Given the description of an element on the screen output the (x, y) to click on. 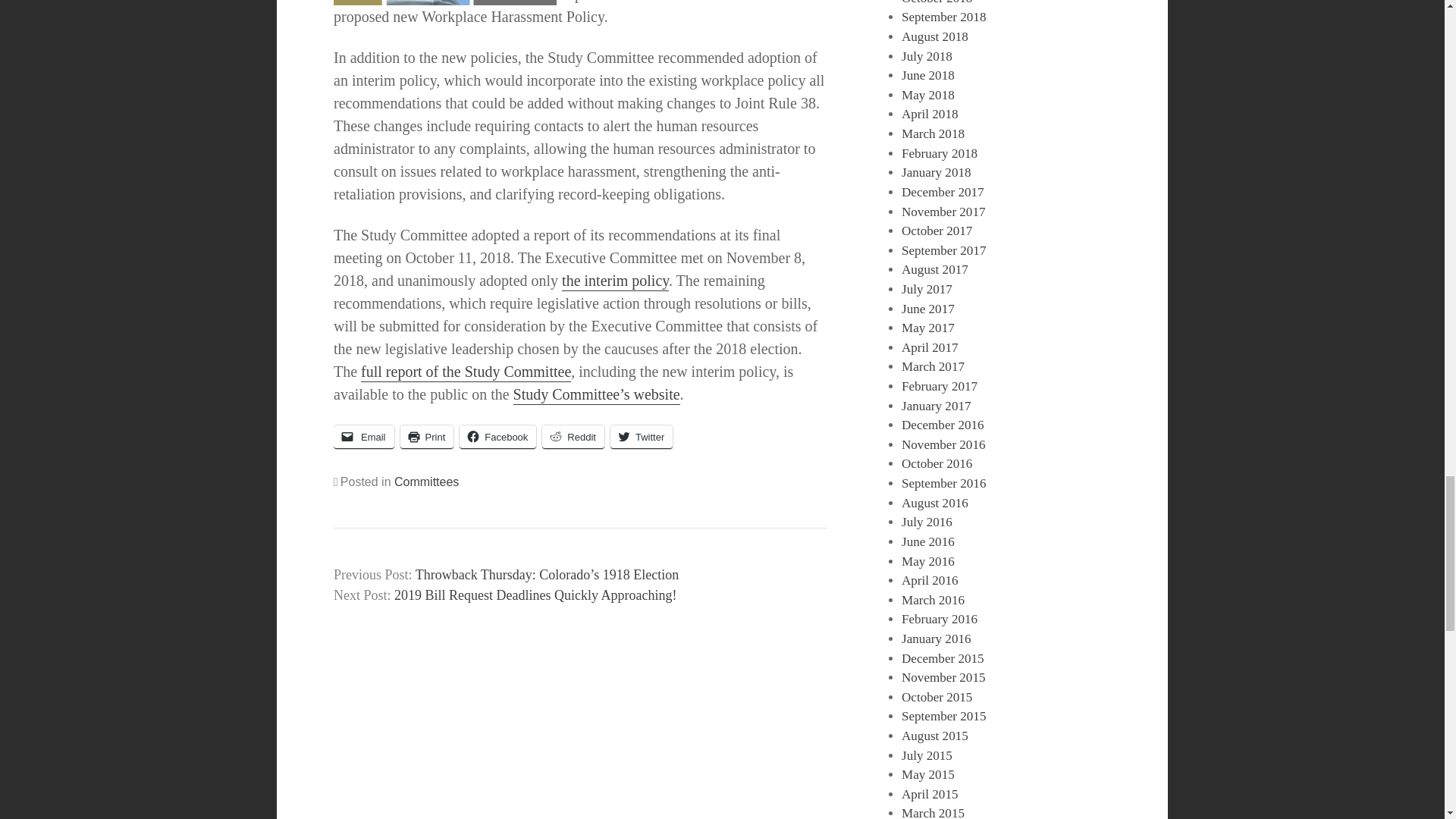
Reddit (572, 436)
full report of the Study Committee (465, 372)
Click to share on Reddit (572, 436)
Email (363, 436)
Facebook (497, 436)
Twitter (641, 436)
Click to email a link to a friend (363, 436)
the interim policy (615, 281)
Click to print (427, 436)
Click to share on Twitter (641, 436)
